Given the description of an element on the screen output the (x, y) to click on. 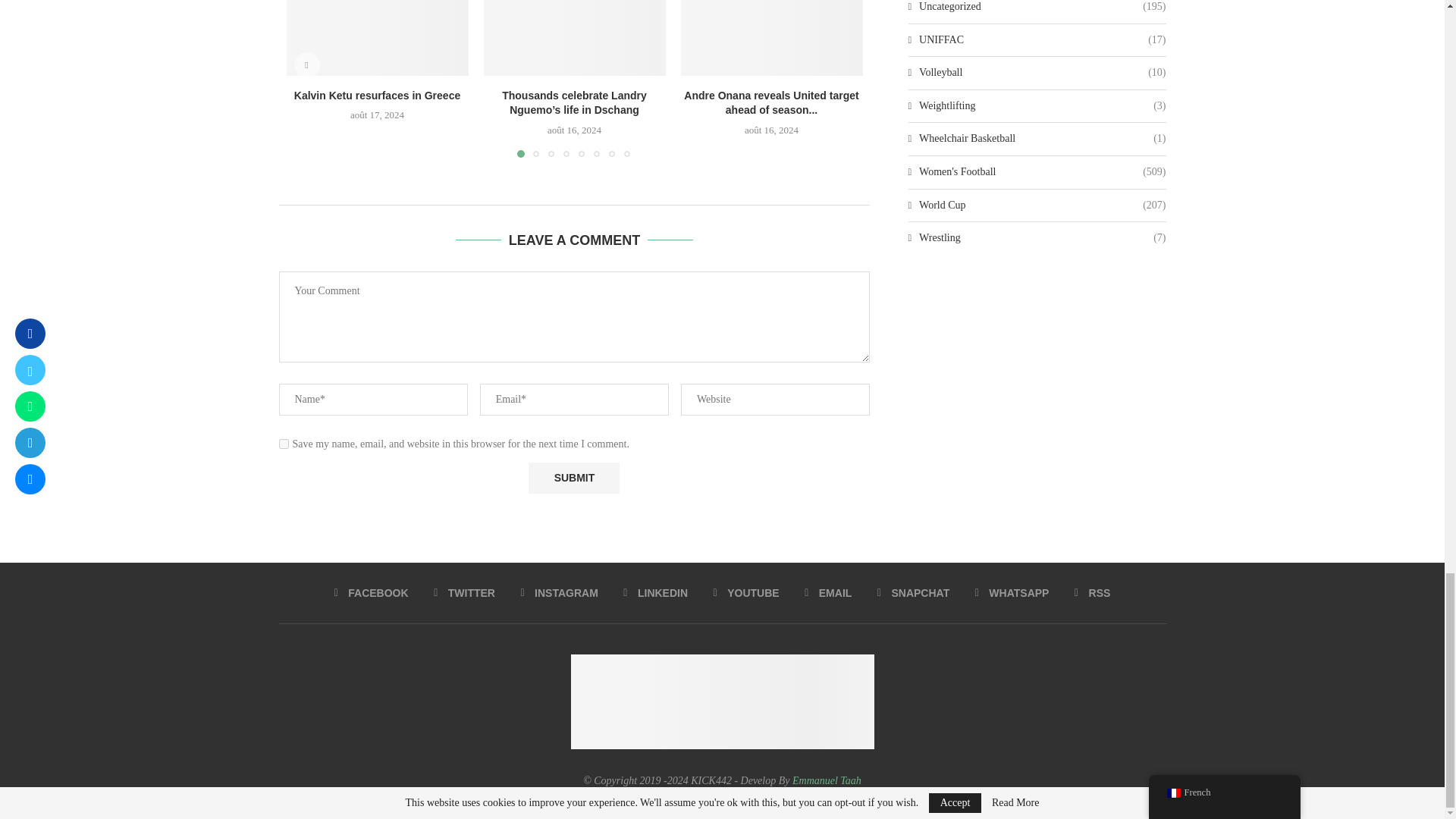
yes (283, 443)
Andre Onana reveals United target ahead of season opener (772, 38)
Submit (574, 477)
Kalvin Ketu resurfaces in Greece (377, 38)
